Given the description of an element on the screen output the (x, y) to click on. 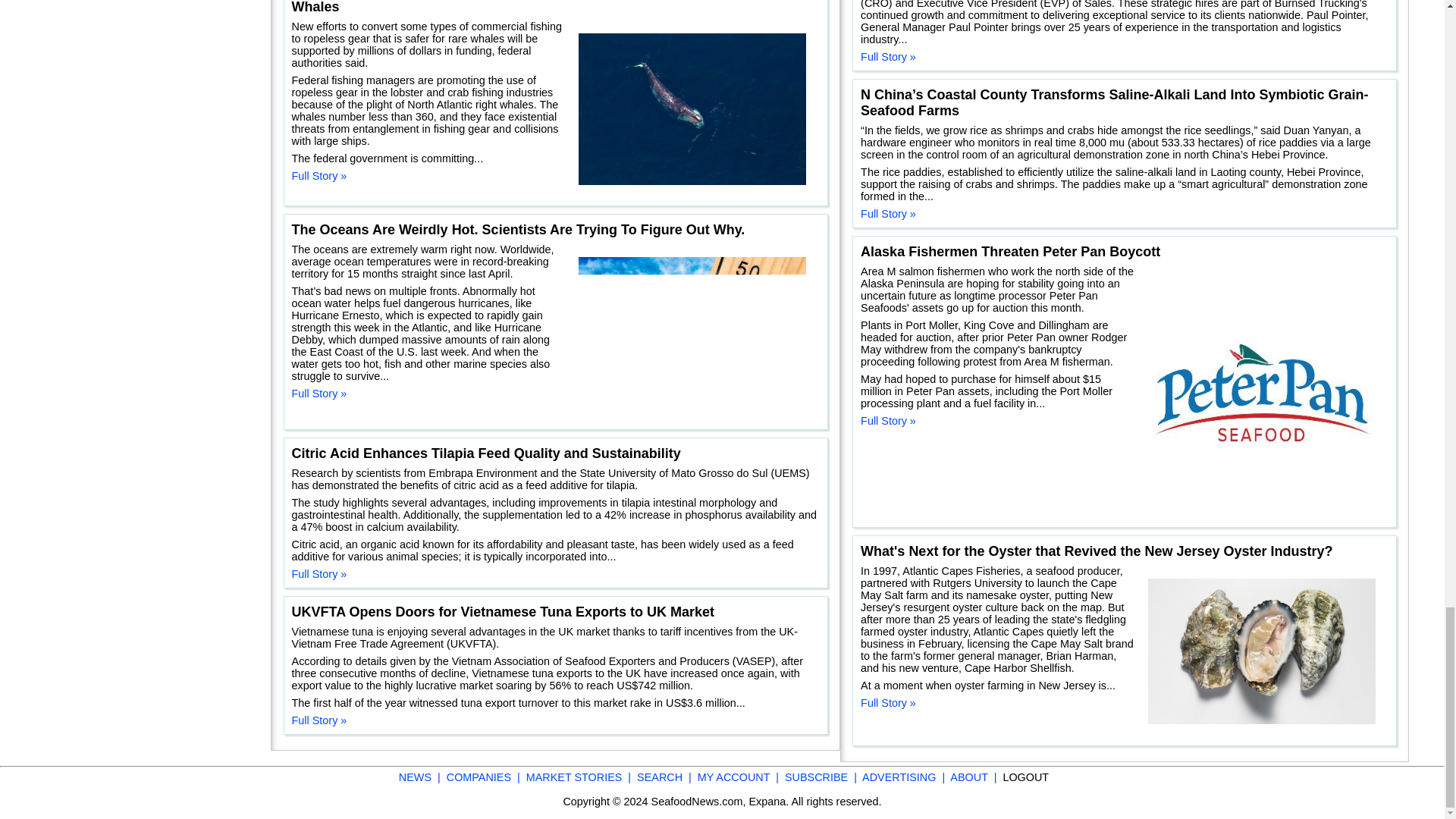
Market Story (70, 768)
Market Story (100, 176)
Market Story (212, 712)
Market Story (111, 740)
Market Story (224, 37)
Market Story (73, 312)
